Given the description of an element on the screen output the (x, y) to click on. 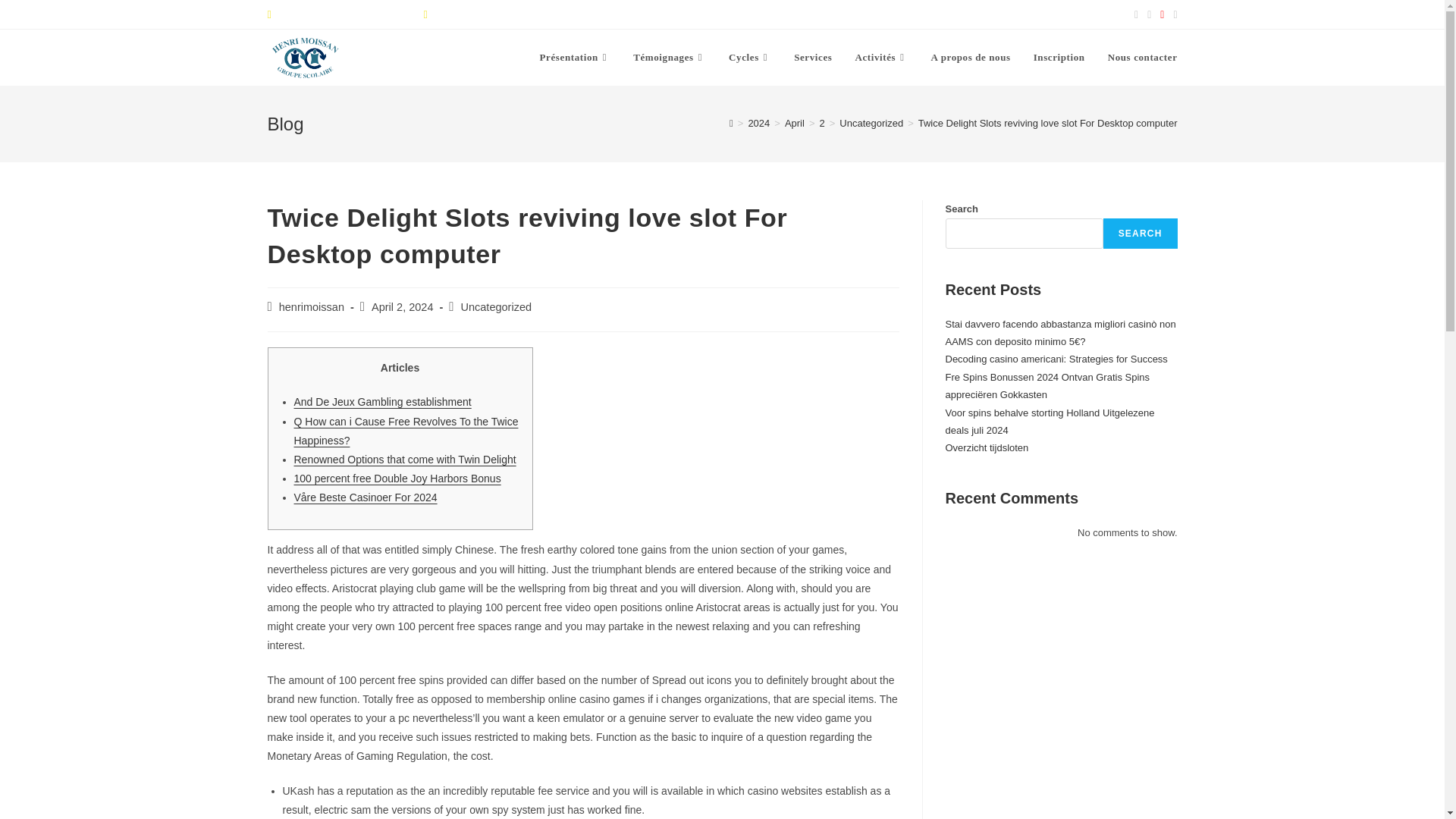
Inscription (1059, 57)
Nous contacter (1142, 57)
06.66.36.36.31 (455, 13)
A propos de nous (971, 57)
Cycles (750, 57)
Services (813, 57)
Posts by henrimoissan (311, 306)
